Given the description of an element on the screen output the (x, y) to click on. 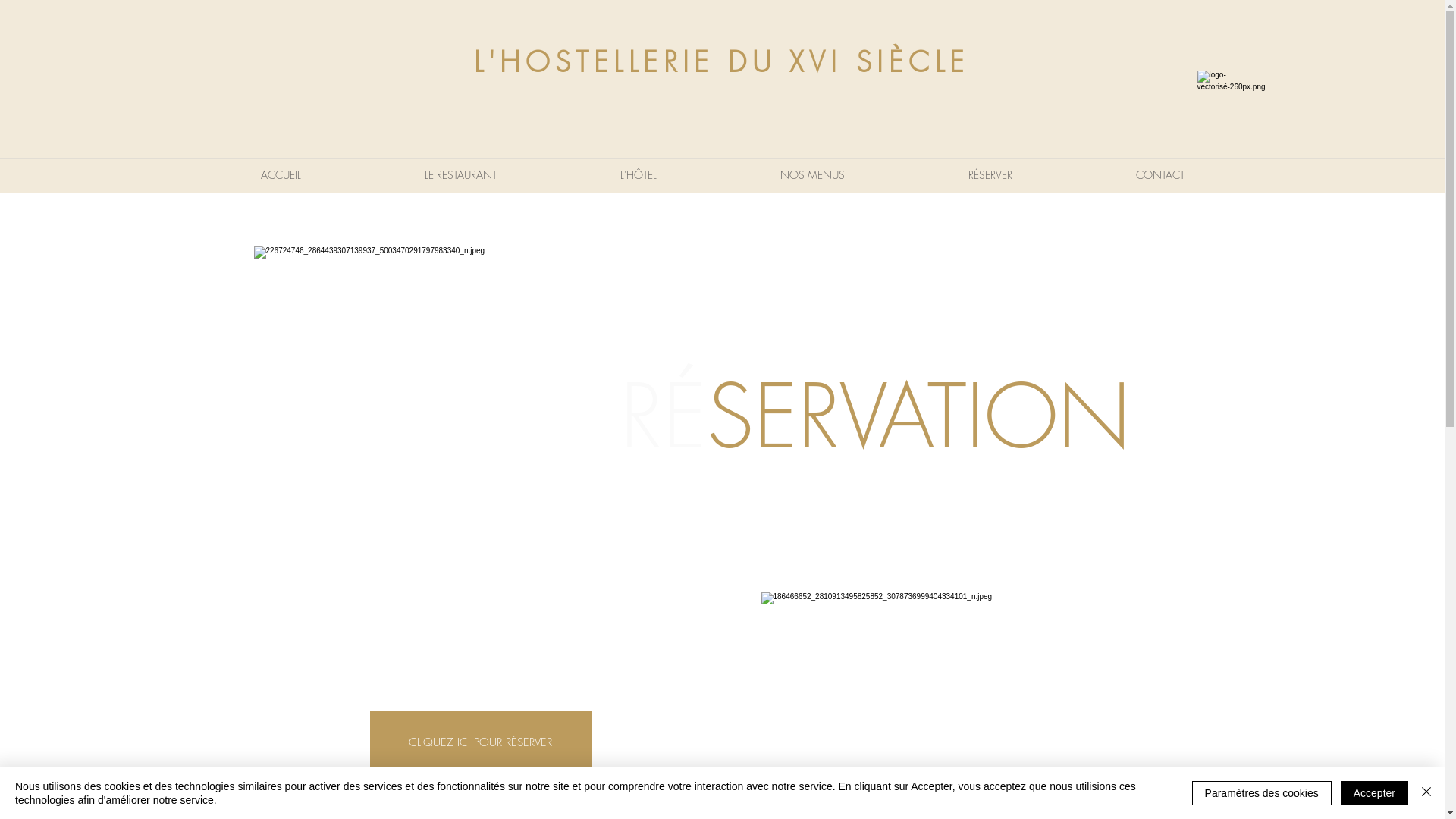
CONTACT Element type: text (1159, 174)
ACCUEIL Element type: text (280, 174)
Accepter Element type: text (1374, 793)
NOS MENUS Element type: text (812, 174)
LE RESTAURANT Element type: text (460, 174)
